Given the description of an element on the screen output the (x, y) to click on. 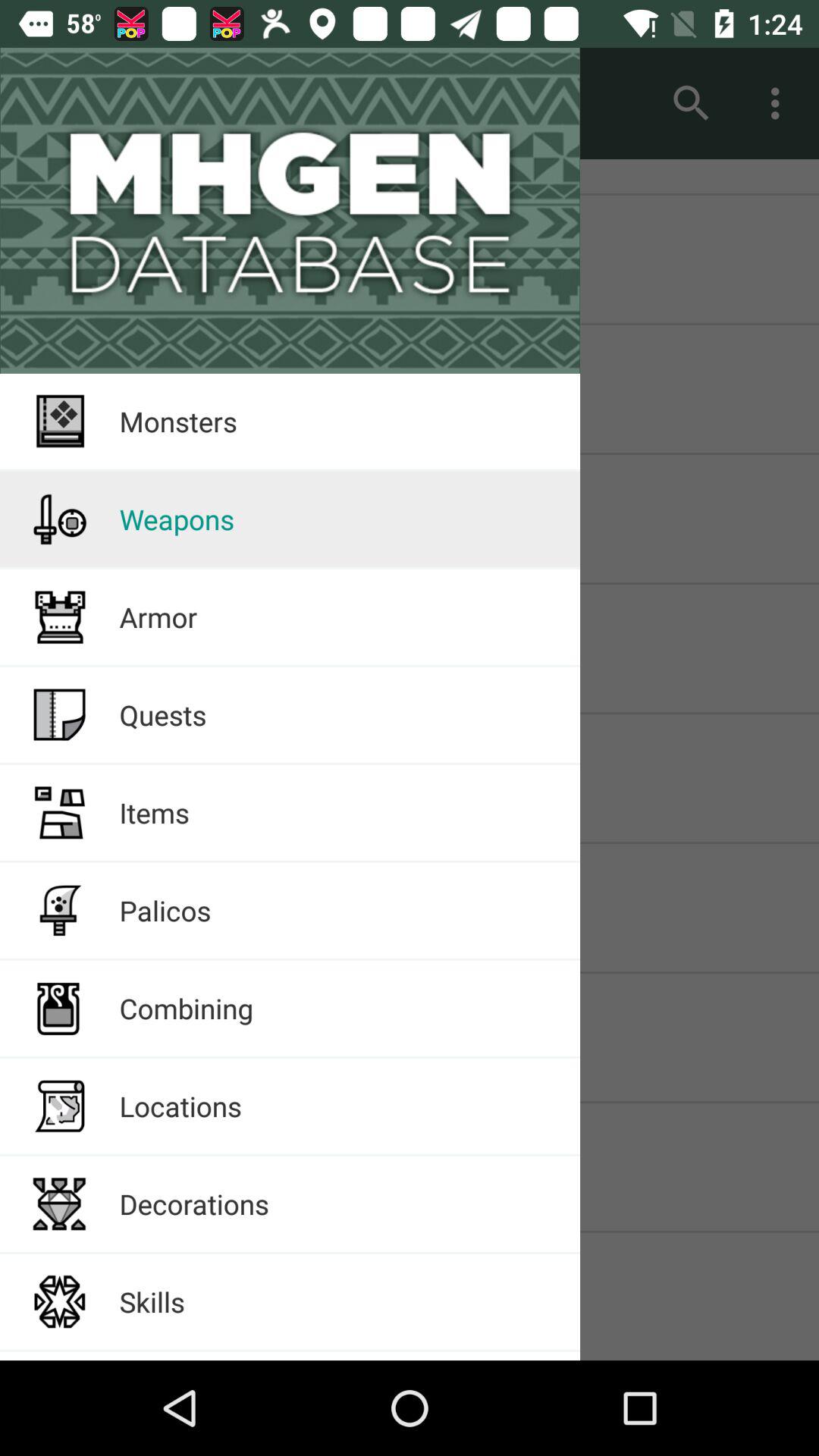
select the logo of decorations (59, 1203)
select the icon which  is at top right (779, 103)
click on search icon (691, 103)
